Given the description of an element on the screen output the (x, y) to click on. 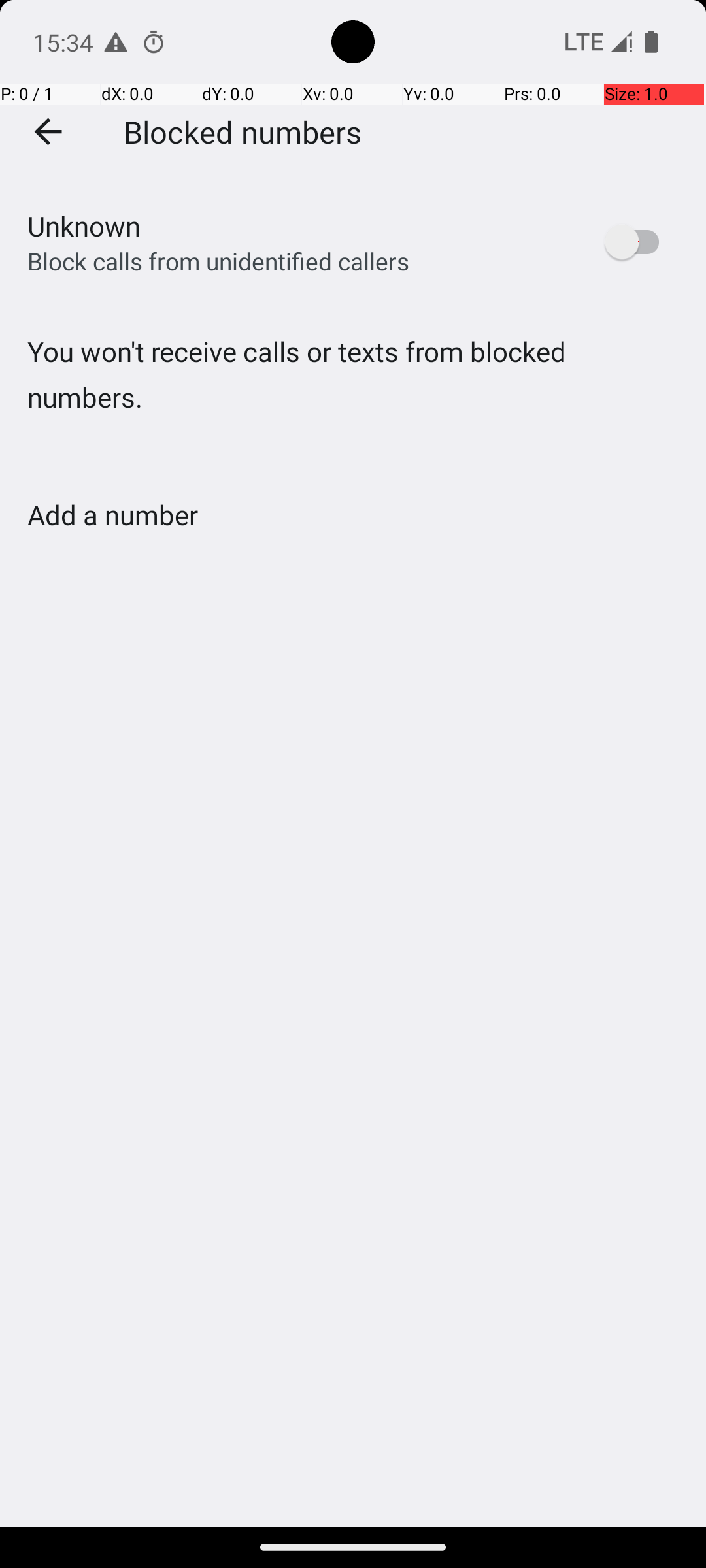
Blocked numbers Element type: android.widget.TextView (242, 131)
You won't receive calls or texts from blocked numbers. Element type: android.widget.TextView (352, 401)
Add a number Element type: android.widget.TextView (112, 514)
Unknown Element type: android.widget.TextView (83, 225)
Block calls from unidentified callers Element type: android.widget.TextView (218, 260)
